Given the description of an element on the screen output the (x, y) to click on. 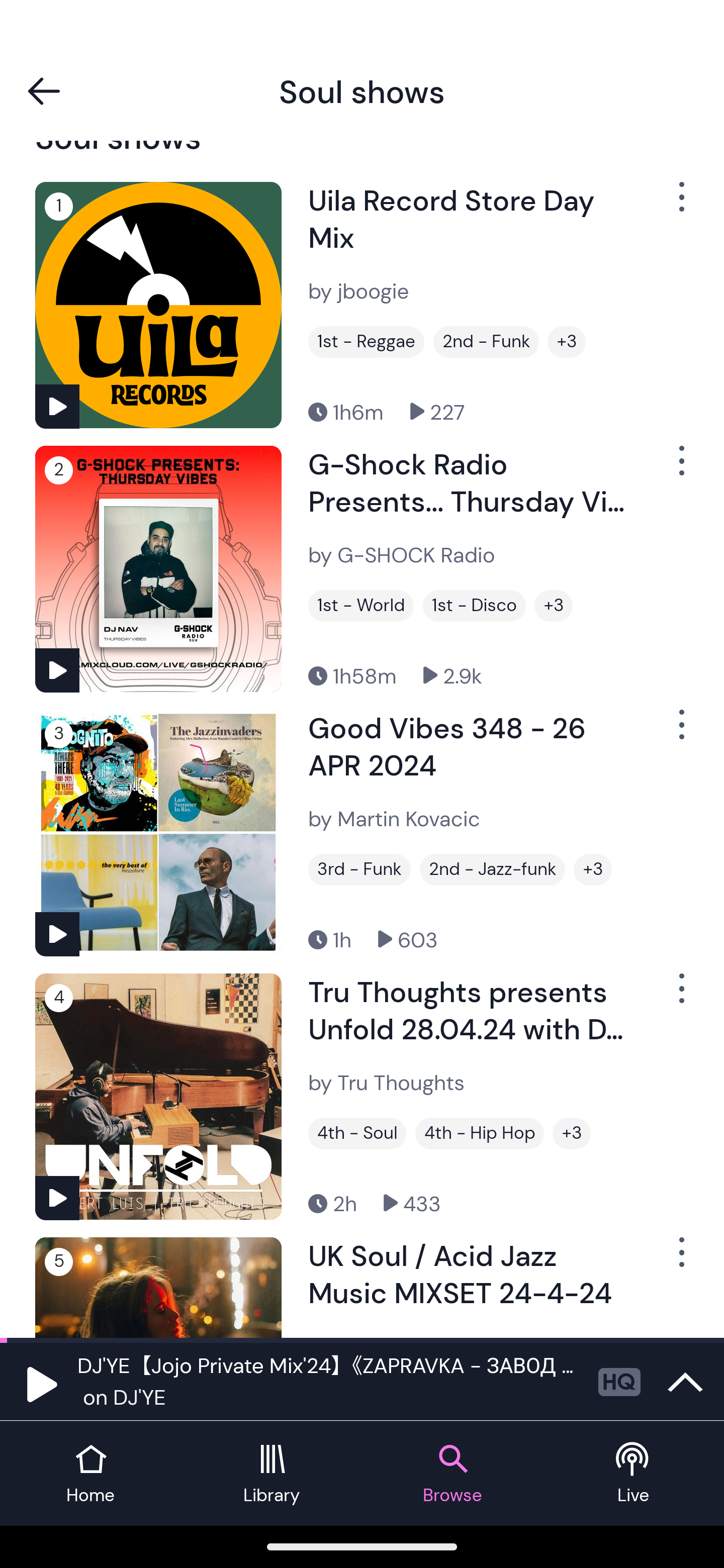
Show Options Menu Button (679, 204)
1st - Reggae (366, 341)
2nd - Funk (485, 341)
Show Options Menu Button (679, 467)
1st - World (361, 604)
1st - Disco (473, 604)
Show Options Menu Button (679, 732)
3rd - Funk (359, 869)
2nd - Jazz-funk (492, 869)
Show Options Menu Button (679, 996)
4th - Soul (357, 1133)
4th - Hip Hop (479, 1133)
Show Options Menu Button (679, 1259)
Home tab Home (90, 1473)
Library tab Library (271, 1473)
Browse tab Browse (452, 1473)
Live tab Live (633, 1473)
